Given the description of an element on the screen output the (x, y) to click on. 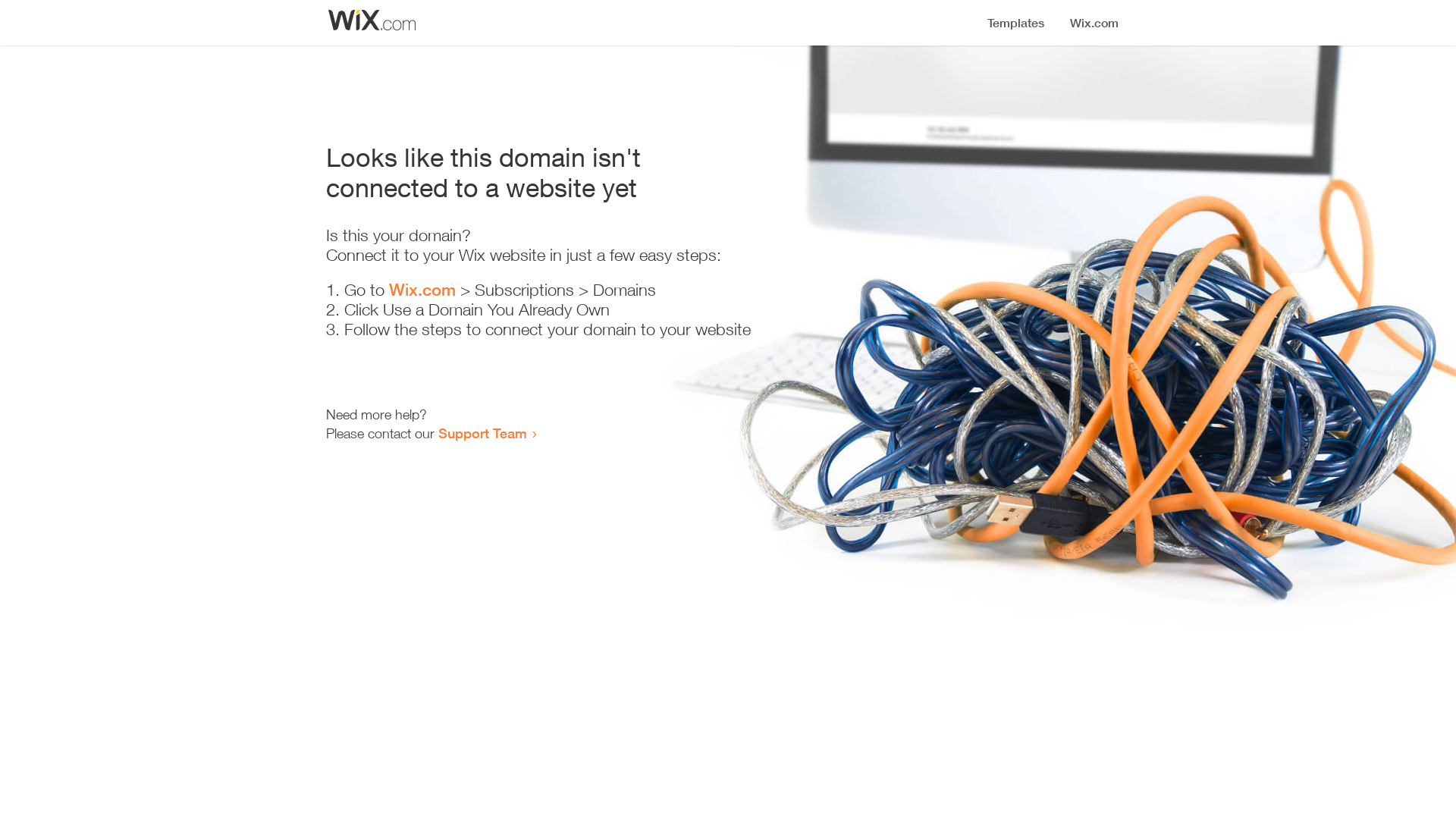
Support Team Element type: text (482, 432)
Wix.com Element type: text (422, 289)
